Given the description of an element on the screen output the (x, y) to click on. 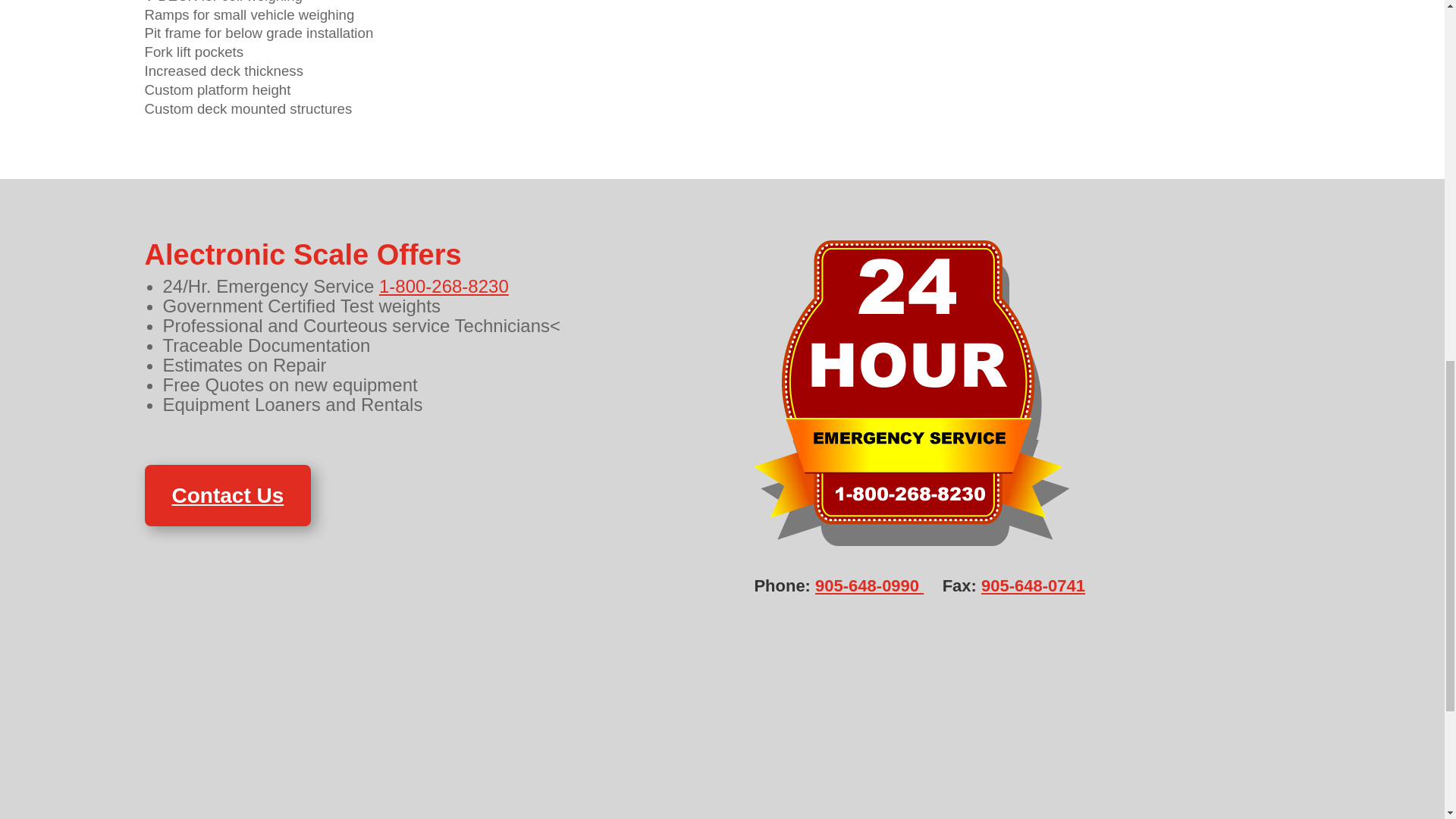
24Hour.WhiteText.fw (912, 393)
905-648-0990  (869, 585)
Contact Us (227, 495)
1-800-268-8230 (443, 286)
